Given the description of an element on the screen output the (x, y) to click on. 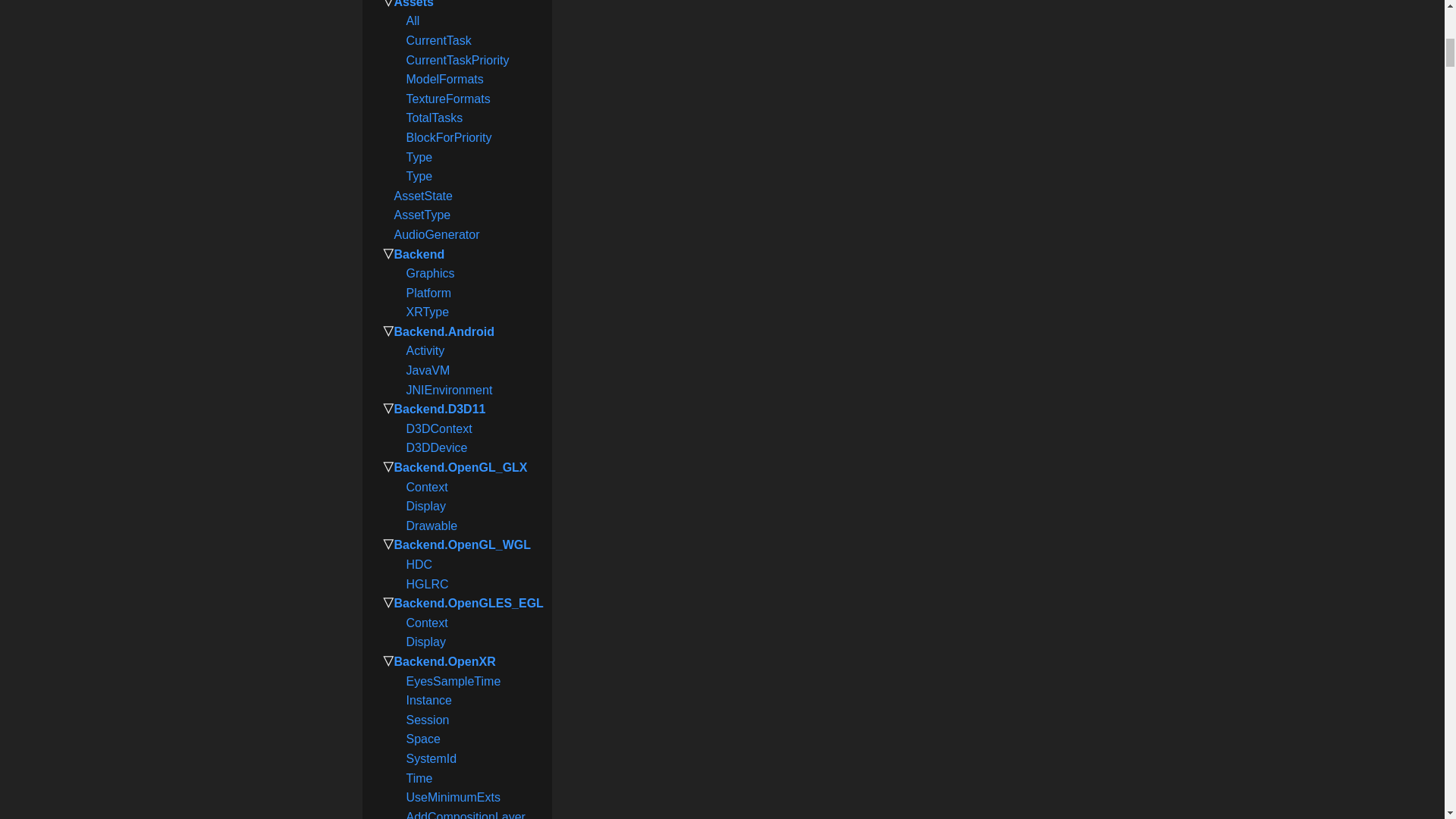
Assets (413, 4)
All (413, 20)
